Given the description of an element on the screen output the (x, y) to click on. 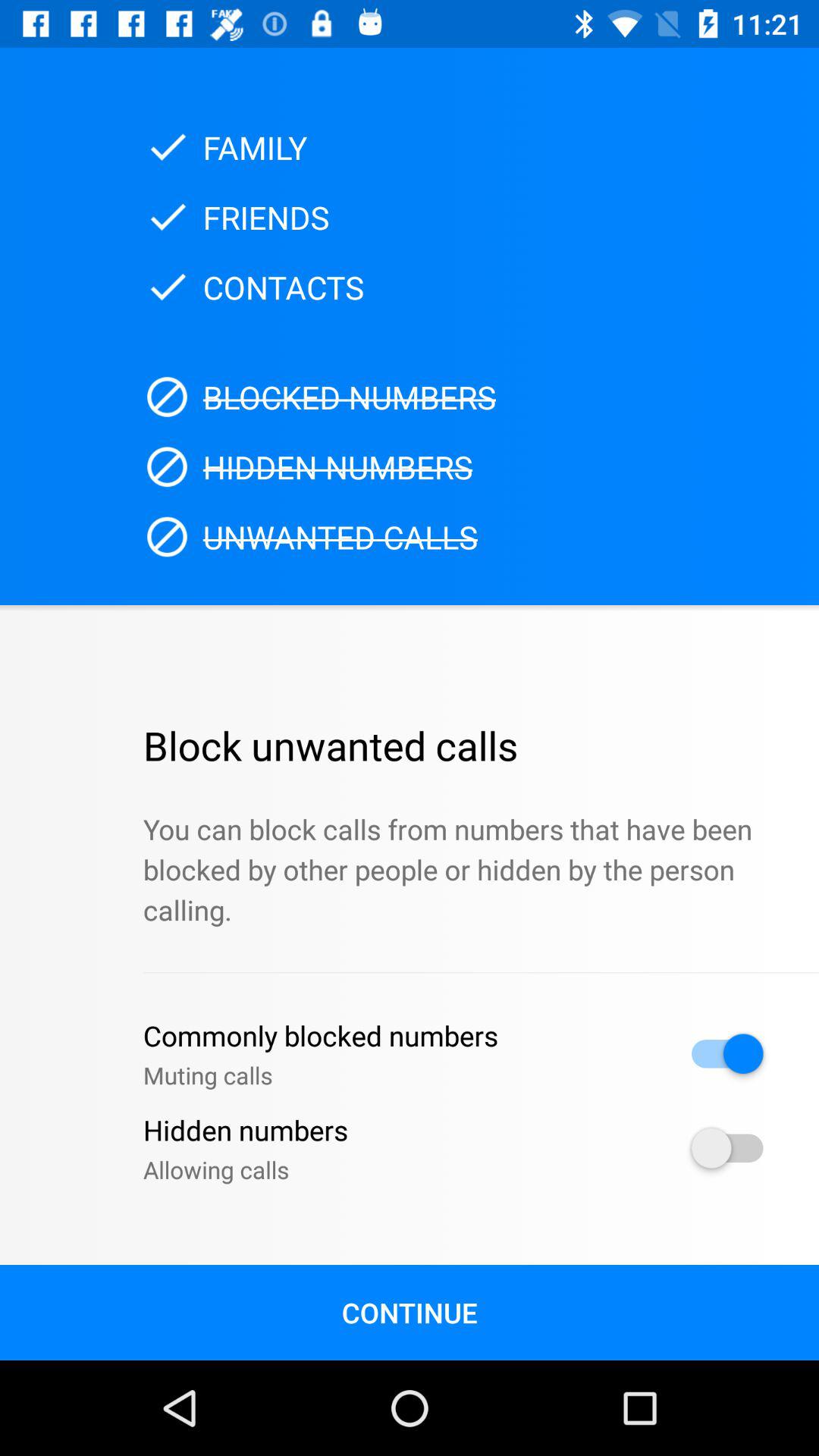
toggle hidden numbers (727, 1148)
